Given the description of an element on the screen output the (x, y) to click on. 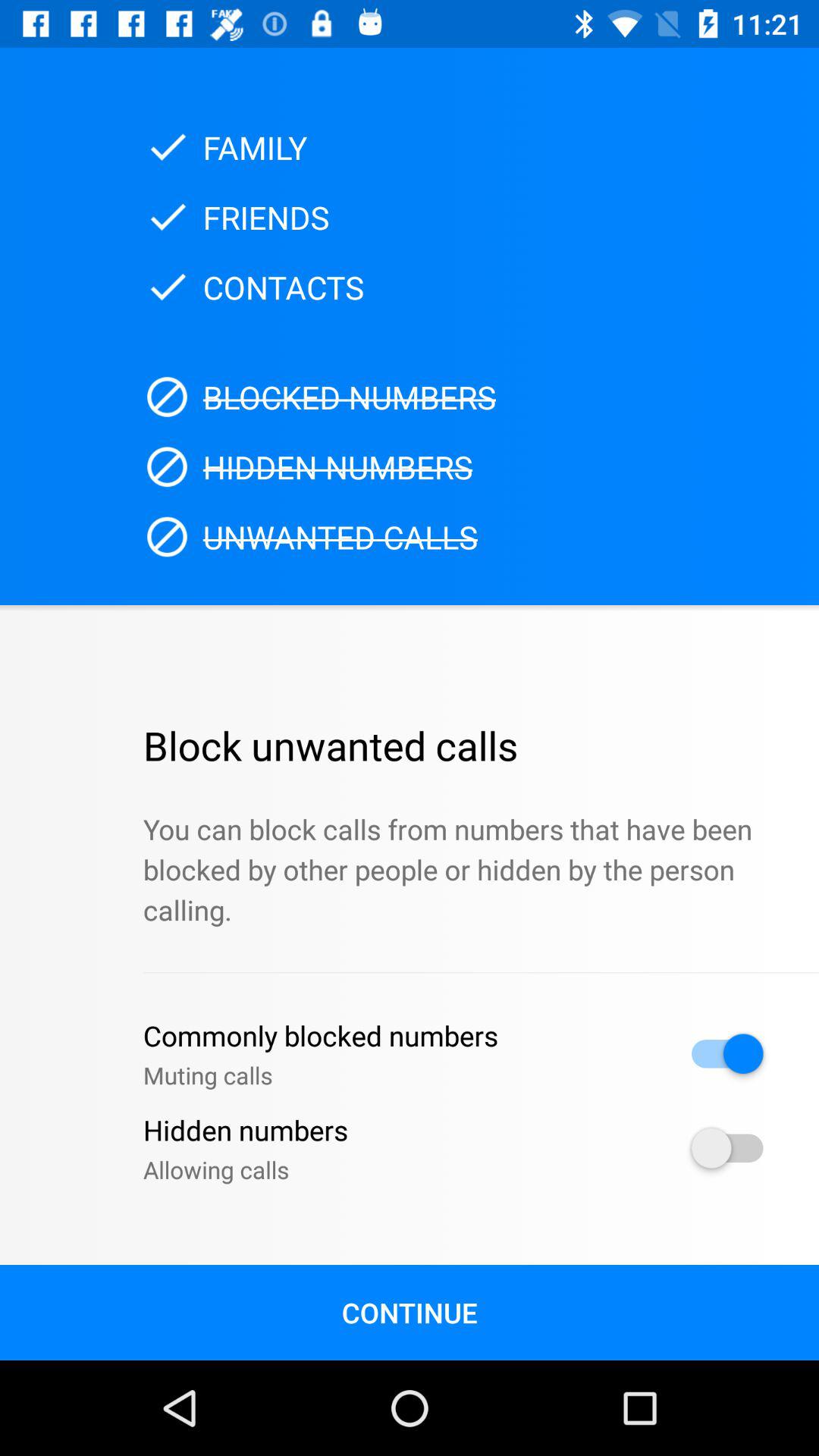
toggle hidden numbers (727, 1148)
